Given the description of an element on the screen output the (x, y) to click on. 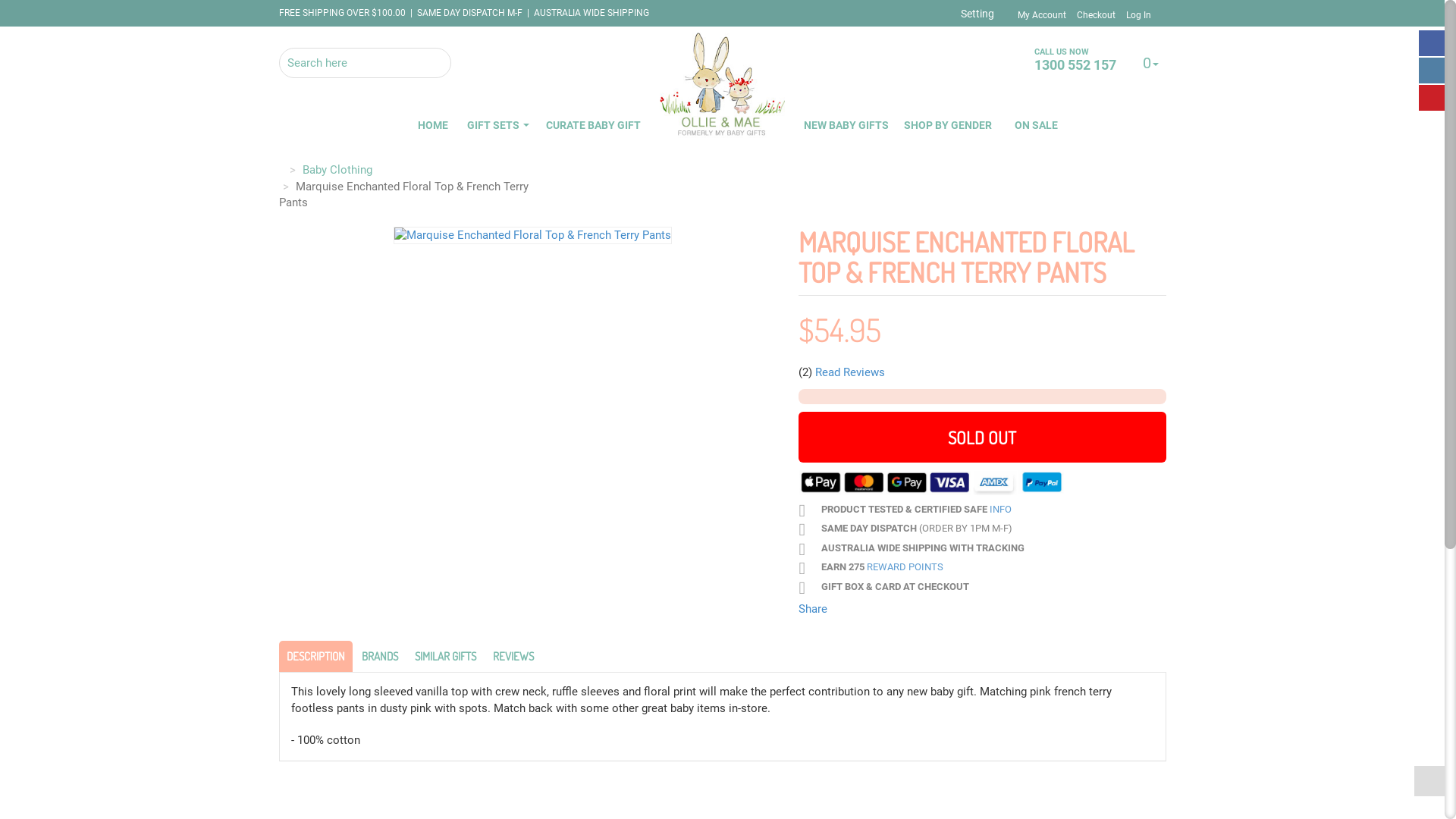
Marquise Enchanted Floral Top & French Terry Pants Element type: text (403, 194)
Baby Clothing Element type: text (336, 169)
BRANDS Element type: text (378, 655)
Log In Element type: hover (1128, 62)
My Account Element type: text (1041, 14)
INFO Element type: text (999, 508)
NEW BABY GIFTS Element type: text (846, 125)
REWARD POINTS Element type: text (904, 566)
Marquise Enchanted Floral Top & French Terry Pants Element type: hover (532, 234)
ON SALE Element type: text (1036, 125)
Share Element type: text (811, 608)
HOME Element type: text (432, 125)
SHOP BY GENDER Element type: text (947, 125)
Log In Element type: text (1137, 14)
DESCRIPTION Element type: text (315, 655)
1300 552 157 Element type: text (1075, 64)
Read Reviews Element type: text (849, 372)
SIMILAR GIFTS Element type: text (444, 655)
REVIEWS Element type: text (513, 655)
Checkout Element type: text (1095, 14)
GIFT SETS Element type: text (496, 125)
CURATE BABY GIFT Element type: text (593, 125)
0 Element type: text (1148, 62)
